Given the description of an element on the screen output the (x, y) to click on. 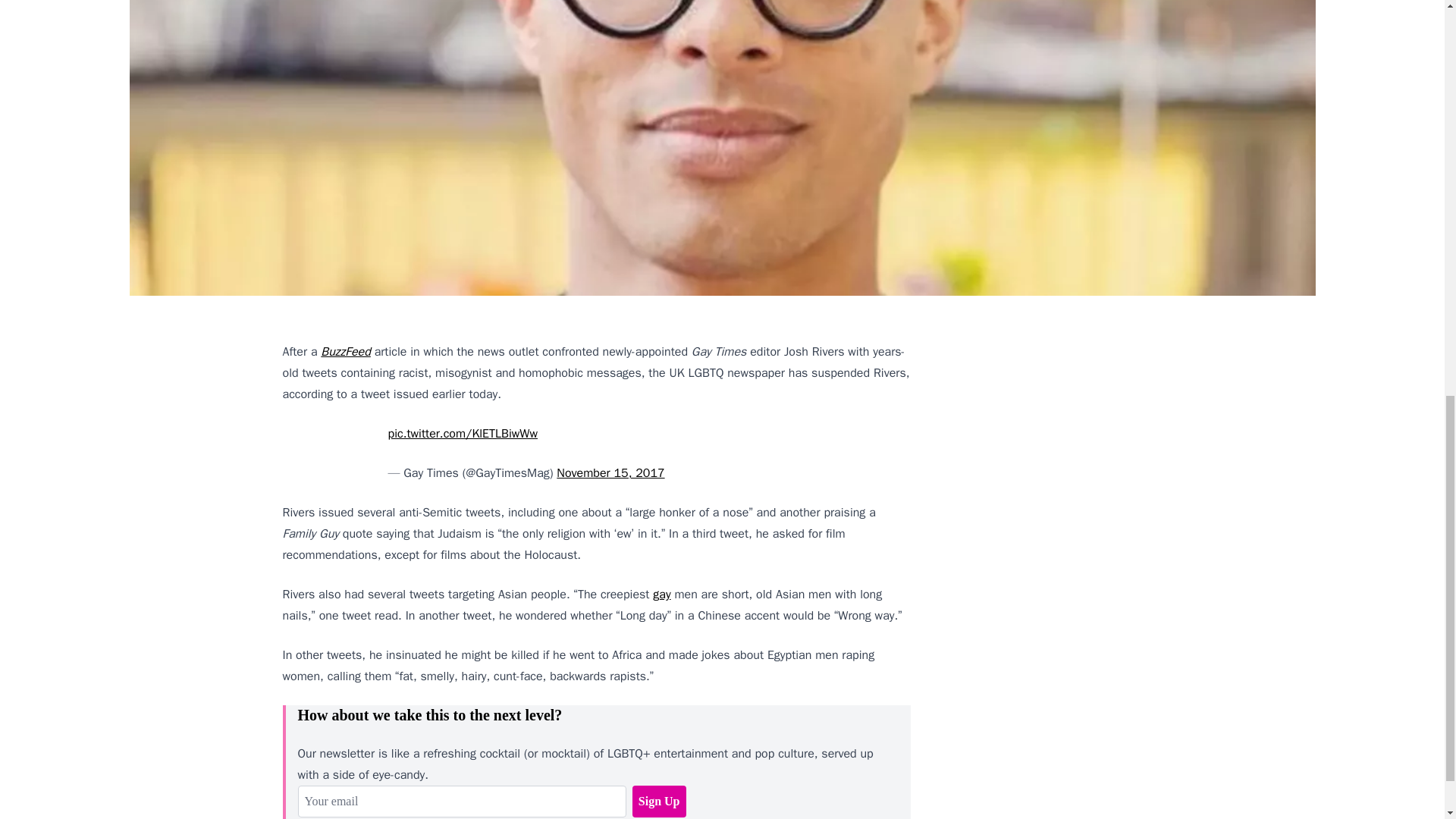
Sign Up (658, 801)
Sign Up (658, 801)
November 15, 2017 (609, 473)
BuzzFeed (345, 351)
gay (660, 594)
